Given the description of an element on the screen output the (x, y) to click on. 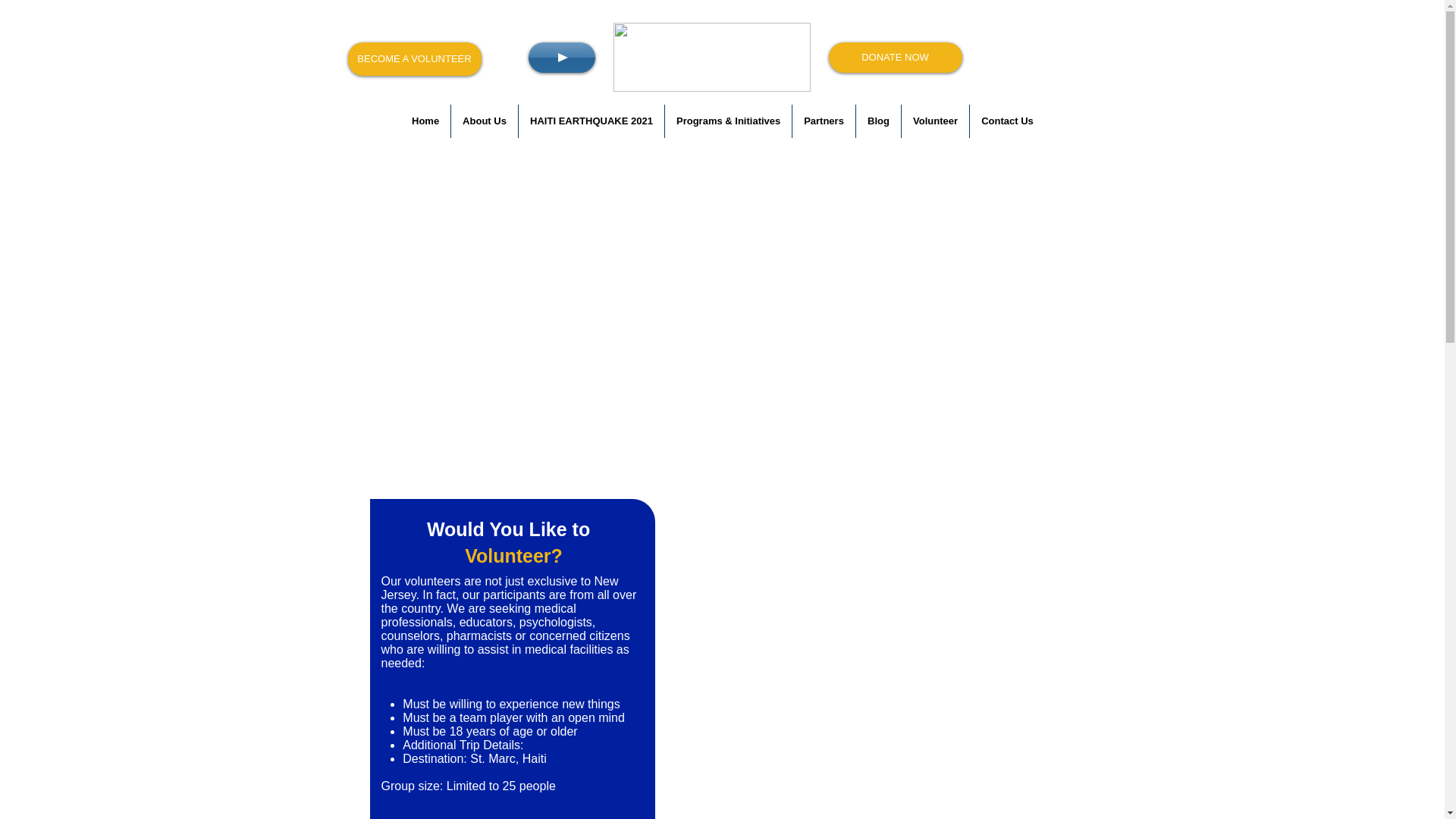
BECOME A VOLUNTEER (413, 59)
Home (424, 121)
HAITI EARTHQUAKE 2021 (590, 121)
Partners (824, 121)
About Us (484, 121)
DONATE NOW (894, 57)
Blog (878, 121)
Volunteer (935, 121)
Contact Us (1007, 121)
